Given the description of an element on the screen output the (x, y) to click on. 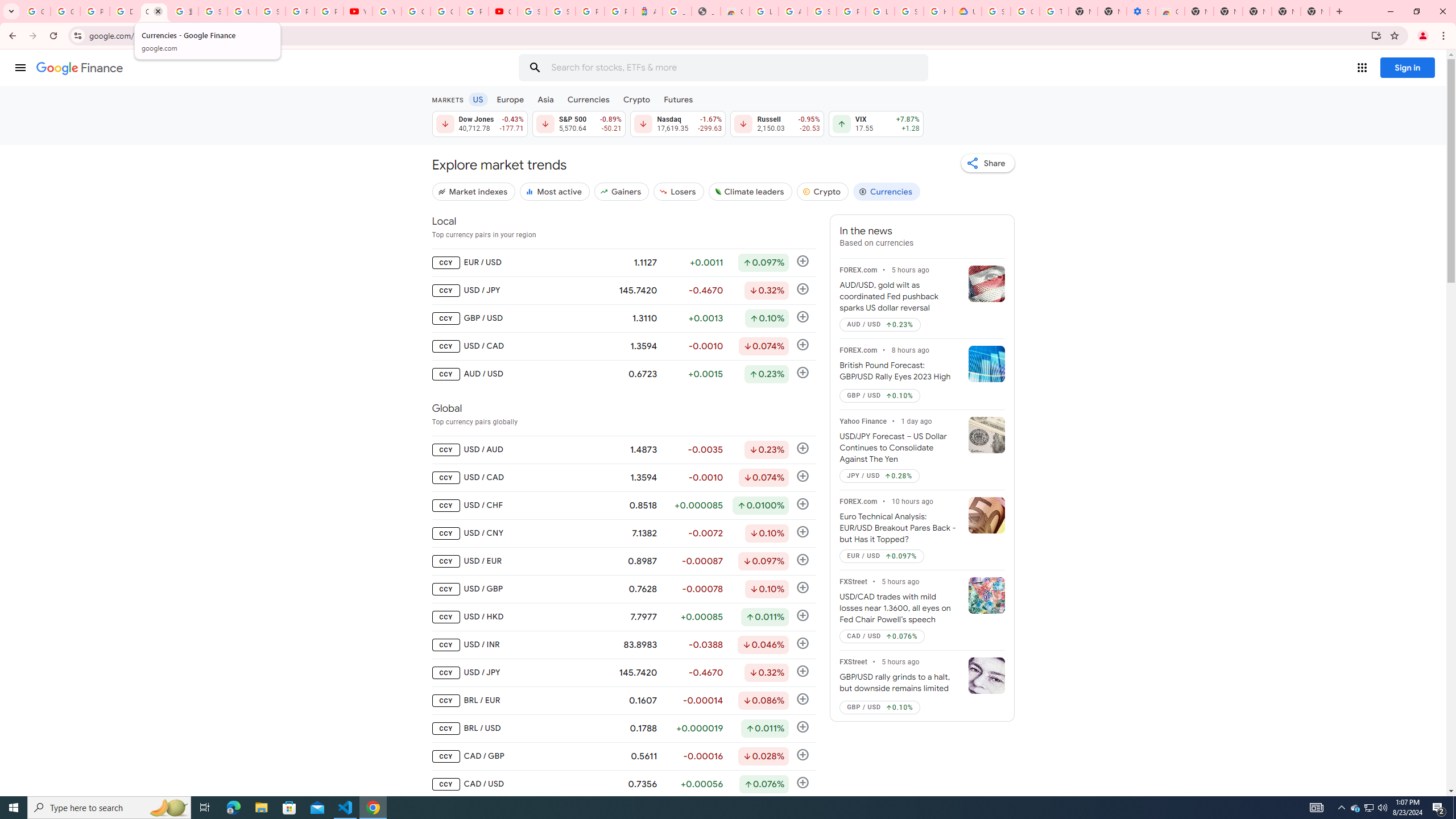
Chrome Web Store - Household (734, 11)
AUD / USD Up by 0.22% (880, 324)
New Tab (1198, 11)
CCY GBP / USD 1.3110 +0.0013 Up by 0.077% Follow (623, 318)
EUR / USD Up by 0.078% (882, 556)
S&P 500 5,570.64 Down by 0.89% -50.21 (578, 123)
CCY USD / HKD 7.7977 +0.00085 Up by 0.0051% Follow (623, 616)
Search (534, 67)
Sign in - Google Accounts (560, 11)
JPY / USD Up by 0.22% (880, 476)
